Given the description of an element on the screen output the (x, y) to click on. 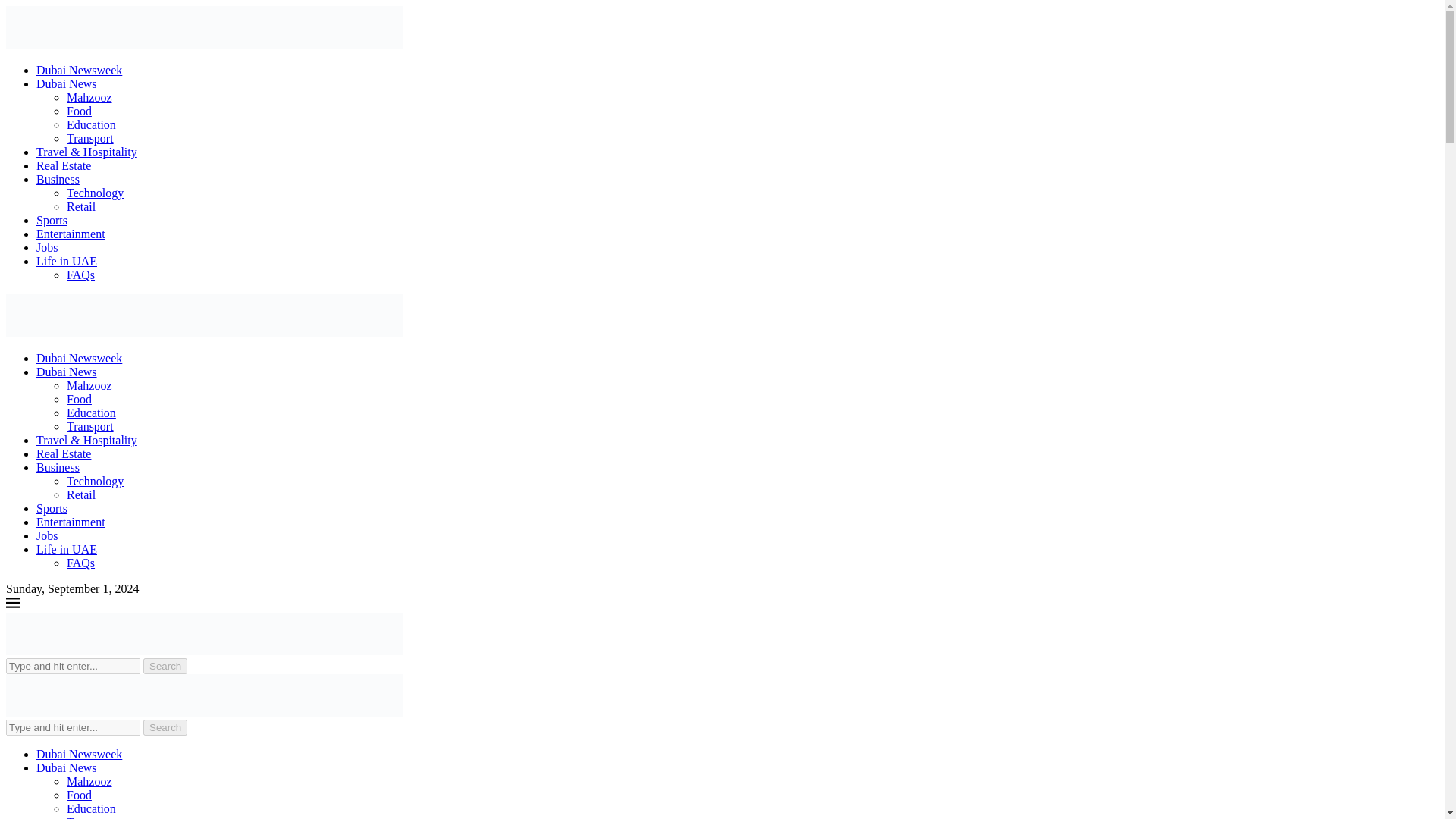
Real Estate (63, 453)
Sports (51, 508)
Jobs (47, 535)
Jobs (47, 246)
Transport (89, 137)
Retail (81, 494)
Sports (51, 219)
Entertainment (70, 521)
Technology (94, 481)
Entertainment (70, 233)
